Given the description of an element on the screen output the (x, y) to click on. 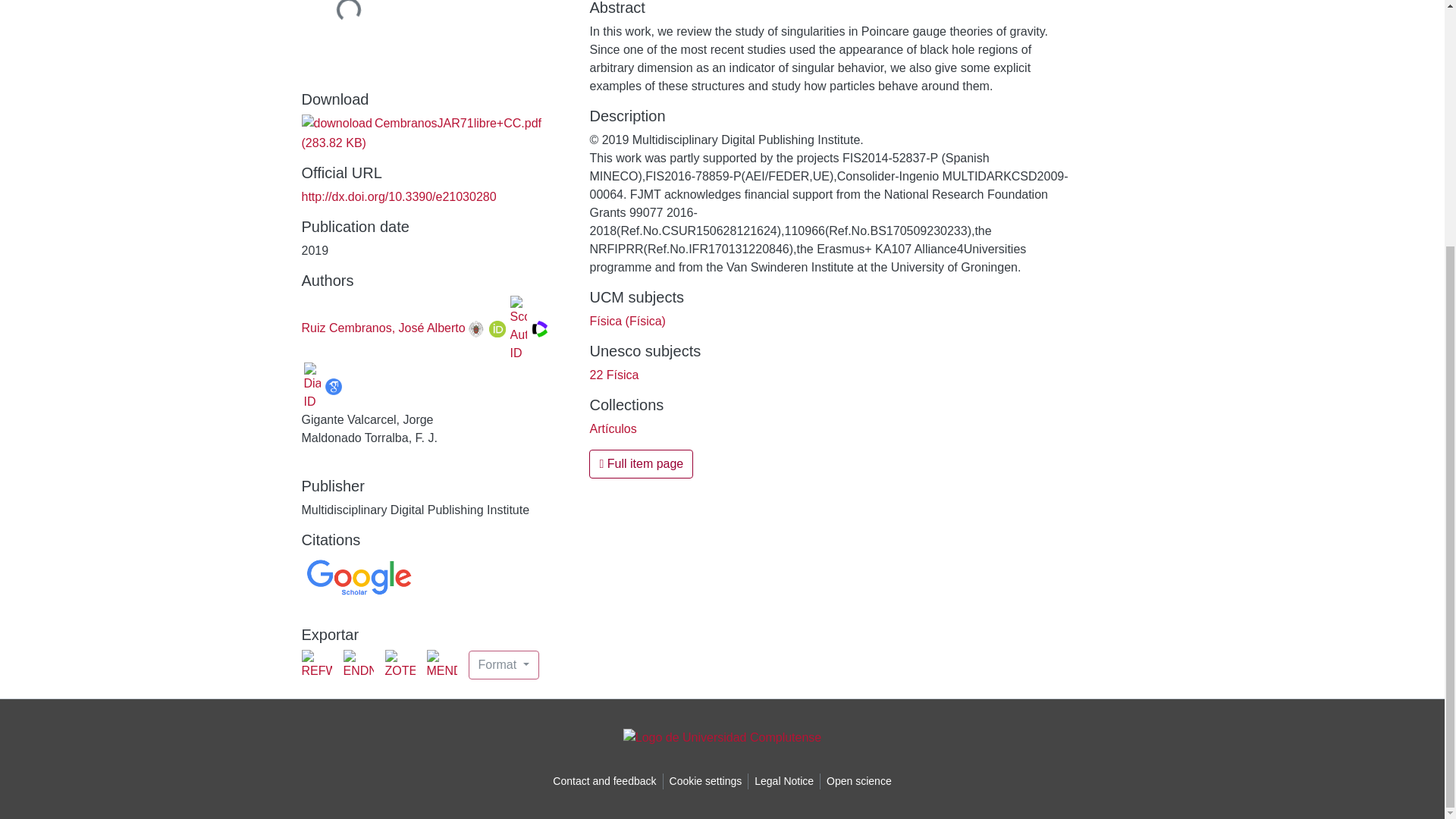
REFWORKS (316, 665)
Citations in Google Scholar (357, 576)
Web of Science ResearcherID (539, 329)
Format (503, 664)
Google Scholar ID (332, 386)
ORCID (497, 329)
UCM identifier (475, 329)
downoloade (336, 123)
MENDELEY (441, 665)
ENDNOTE (357, 665)
